Given the description of an element on the screen output the (x, y) to click on. 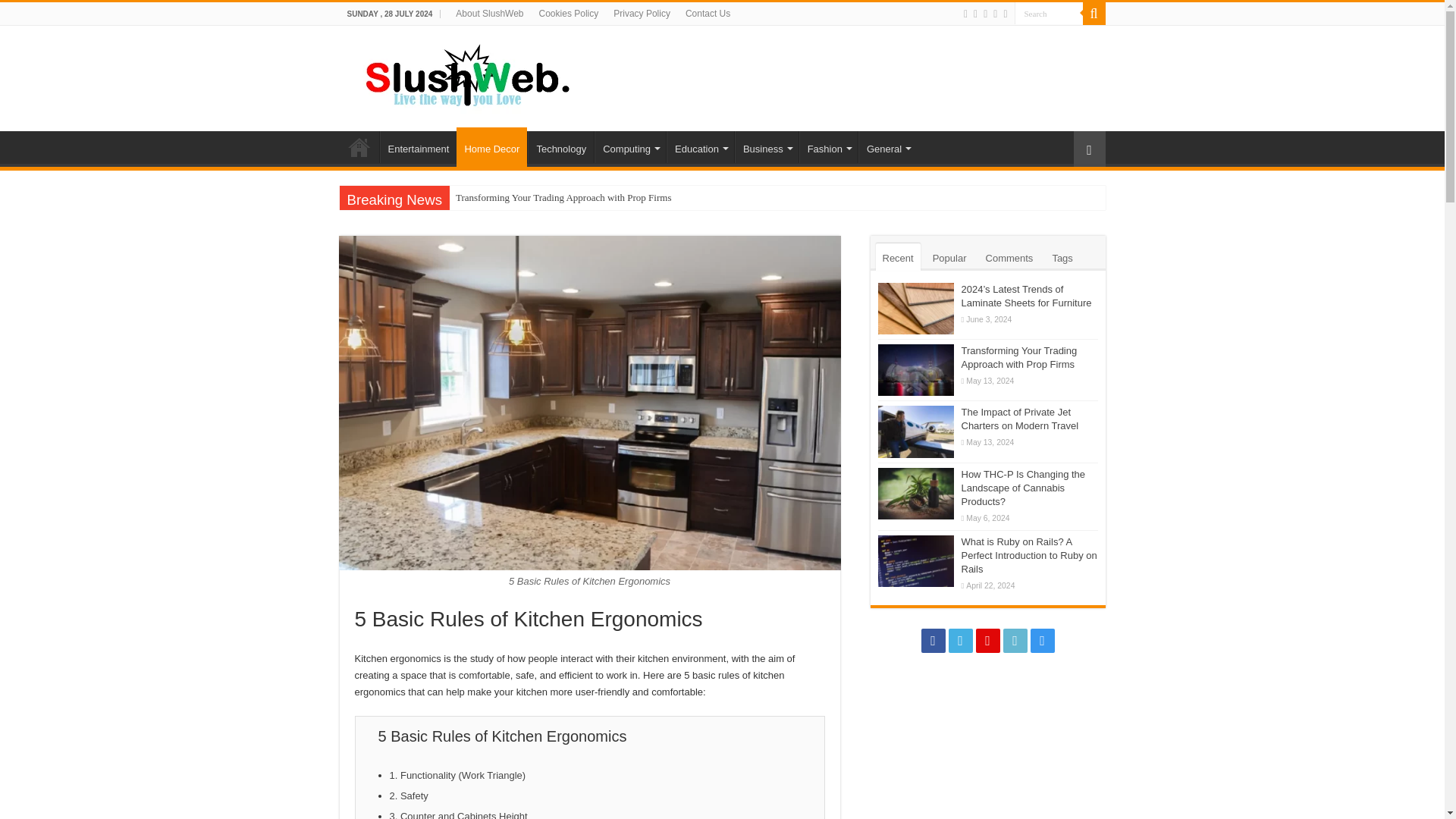
Cookies Policy (569, 13)
LinkedIn (994, 13)
Twitter (975, 13)
Search (1048, 13)
Contact Us (708, 13)
SlushWeb (464, 75)
Privacy Policy (641, 13)
instagram (1005, 13)
About SlushWeb (489, 13)
Search (1048, 13)
Search (1094, 13)
Pinterest (984, 13)
Search (1048, 13)
Facebook (965, 13)
